Given the description of an element on the screen output the (x, y) to click on. 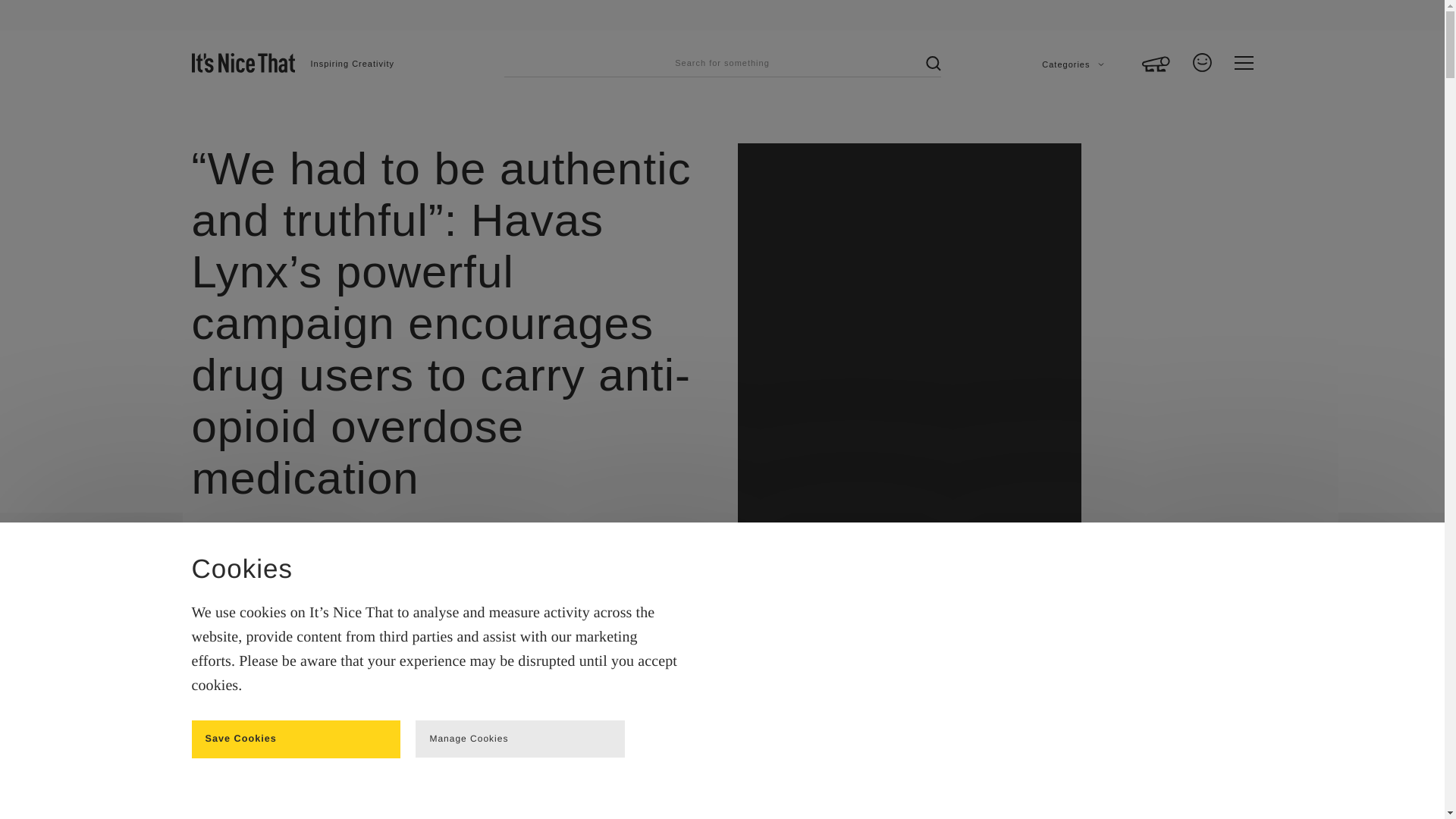
Save Cookies (295, 739)
Manage Cookies (519, 738)
